Given the description of an element on the screen output the (x, y) to click on. 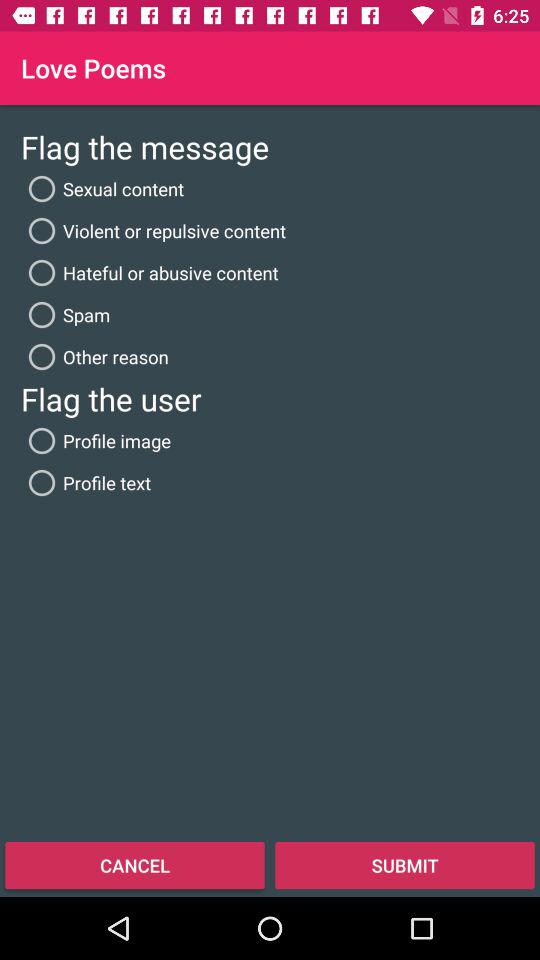
flip until profile image (95, 440)
